Given the description of an element on the screen output the (x, y) to click on. 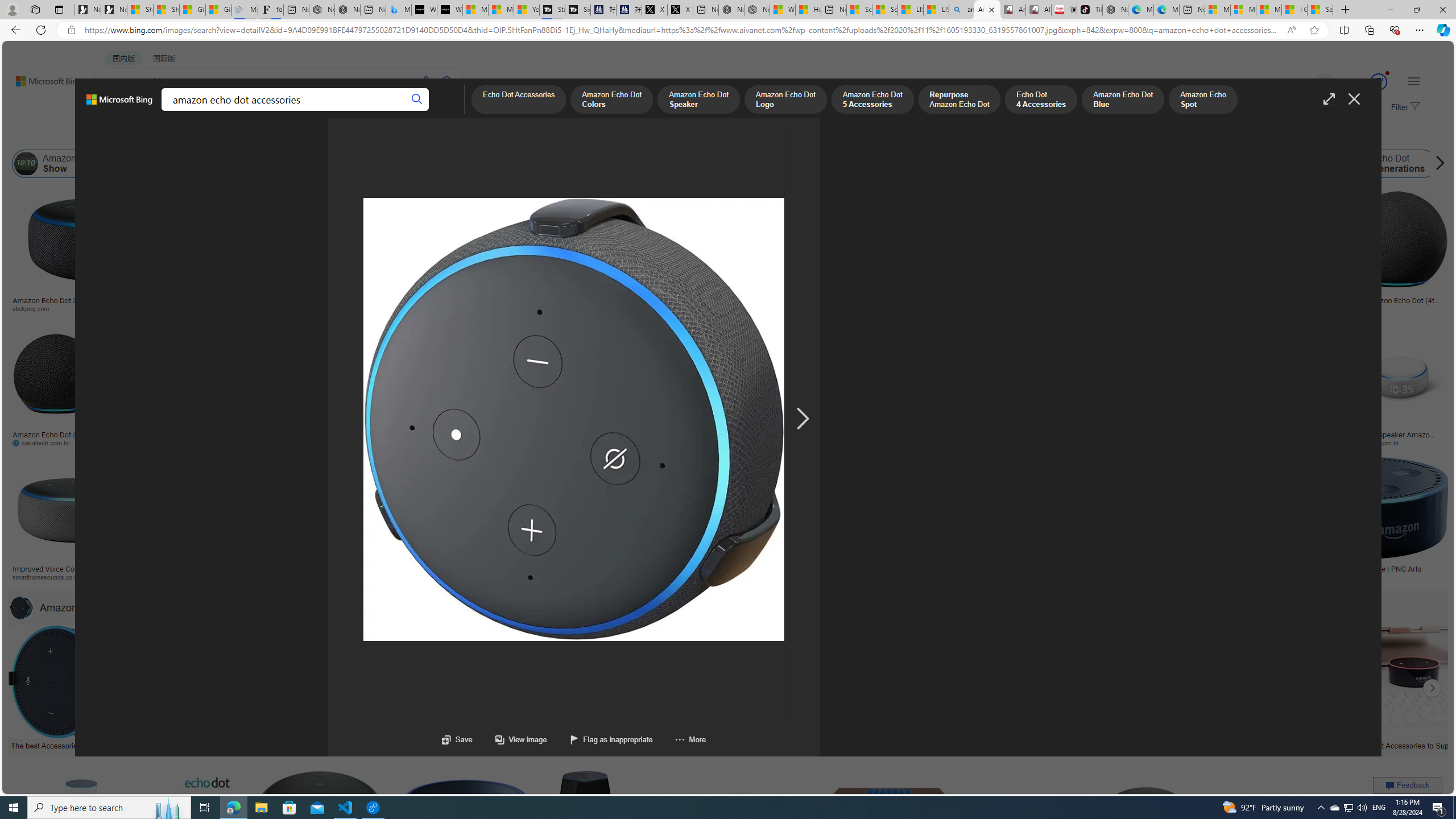
Amazon Echo Dot Kids Edition - 5th Generation (794, 572)
Shanghai, China weather forecast | Microsoft Weather (166, 9)
Click to scroll right (1431, 687)
Alexa Echo Png Pic Png Arts Images (923, 299)
tpsearchtool.com (1257, 308)
Microsoft Bing Travel - Shangri-La Hotel Bangkok (398, 9)
dulcesueno.com.ec (741, 442)
Amazon Echo Speaker (717, 163)
